Given the description of an element on the screen output the (x, y) to click on. 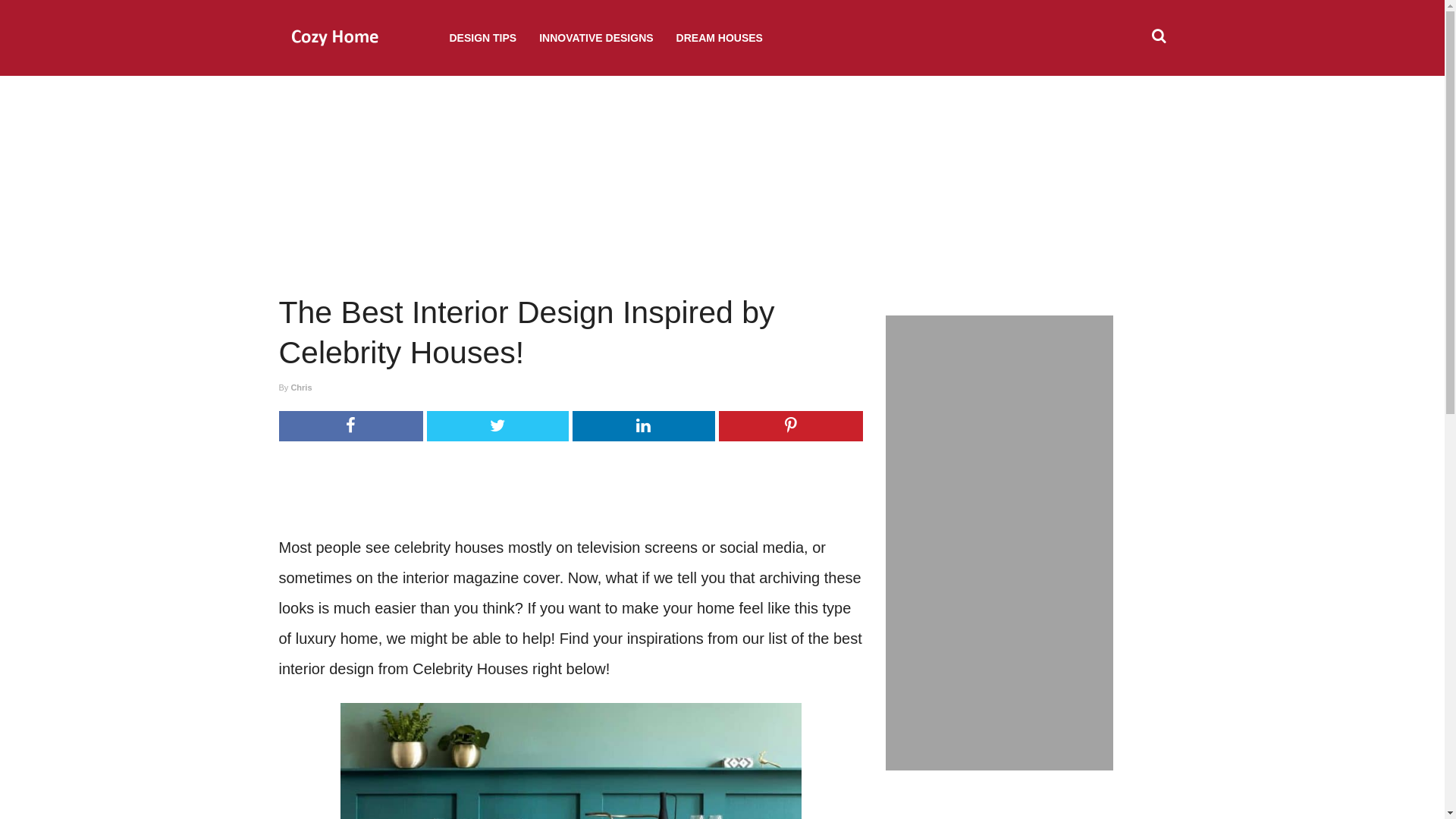
Advertisement (569, 490)
DREAM HOUSES (719, 38)
DESIGN TIPS (482, 38)
INNOVATIVE DESIGNS (596, 38)
Chris (300, 387)
